Given the description of an element on the screen output the (x, y) to click on. 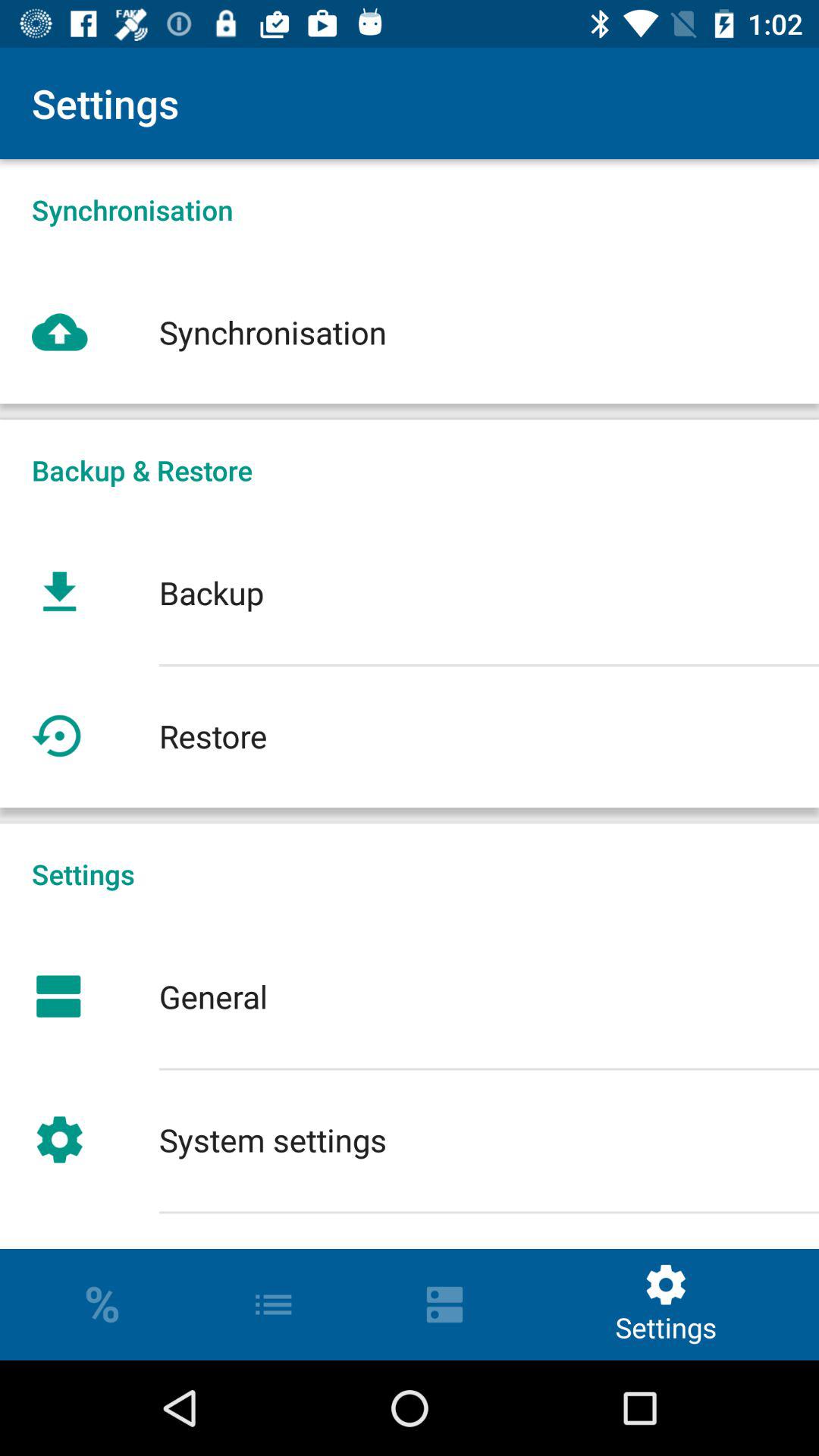
tap the system settings icon (409, 1139)
